Given the description of an element on the screen output the (x, y) to click on. 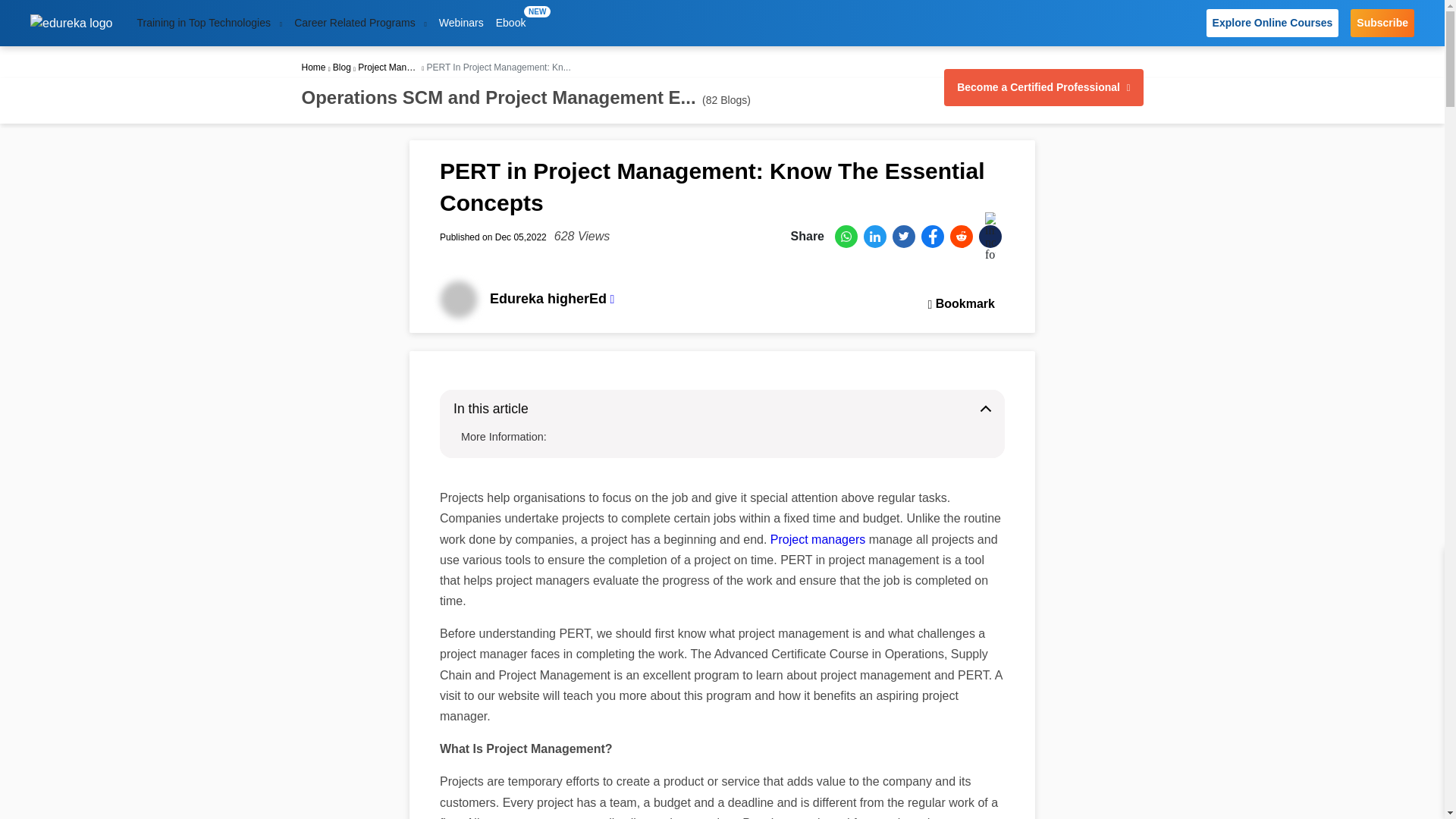
Career Related Programs (360, 22)
Subscribe (510, 22)
Explore Online Courses (1382, 22)
Training in Top Technologies (1273, 22)
Webinars (209, 22)
Post By Edureka higherEd (460, 22)
